Given the description of an element on the screen output the (x, y) to click on. 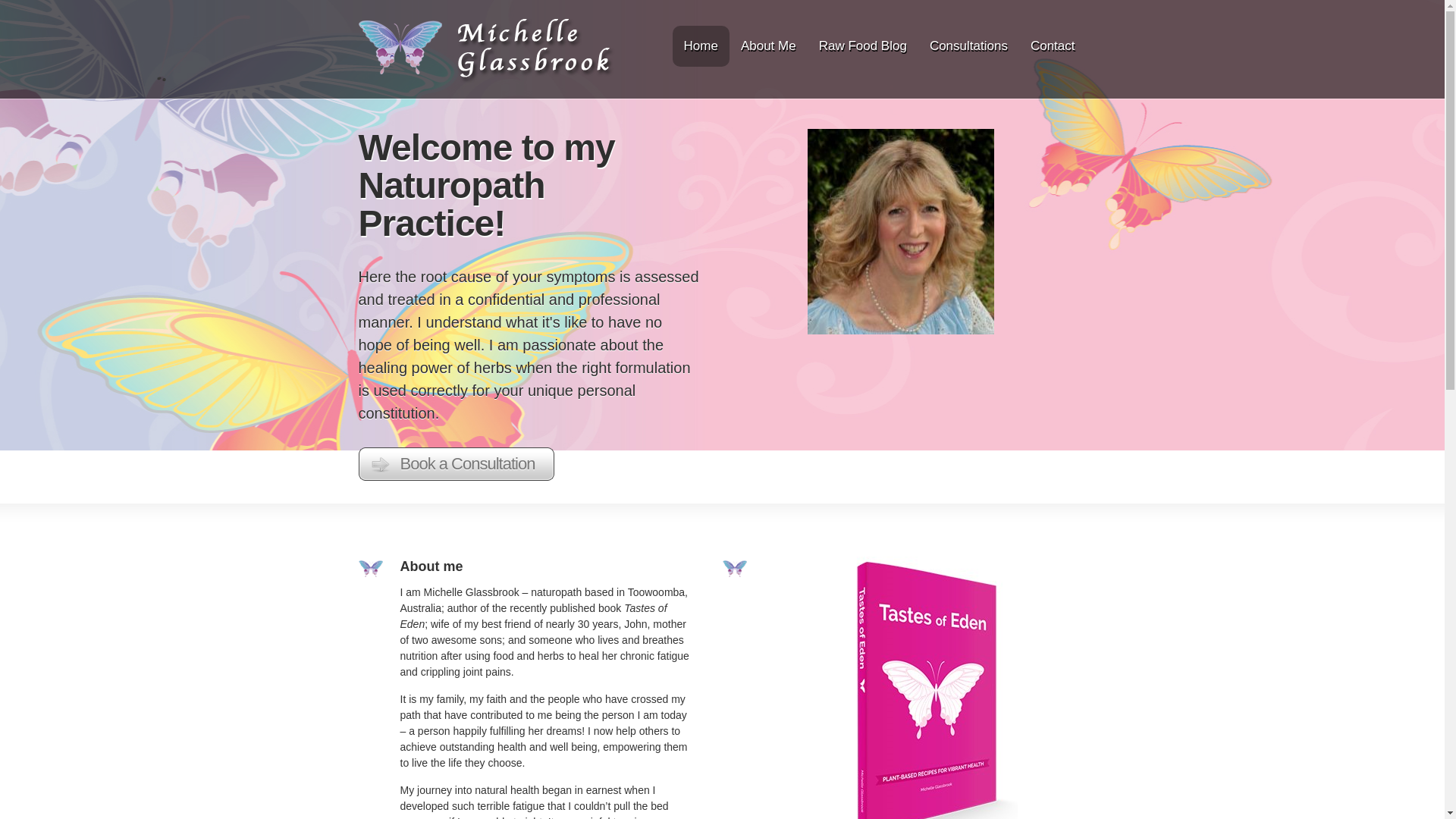
Home Element type: text (700, 46)
Book a Consultation Element type: text (455, 463)
Contact Element type: text (1052, 46)
Raw Food Blog Element type: text (862, 46)
Consultations Element type: text (968, 46)
Home Element type: hover (485, 79)
About Me Element type: text (768, 46)
